Given the description of an element on the screen output the (x, y) to click on. 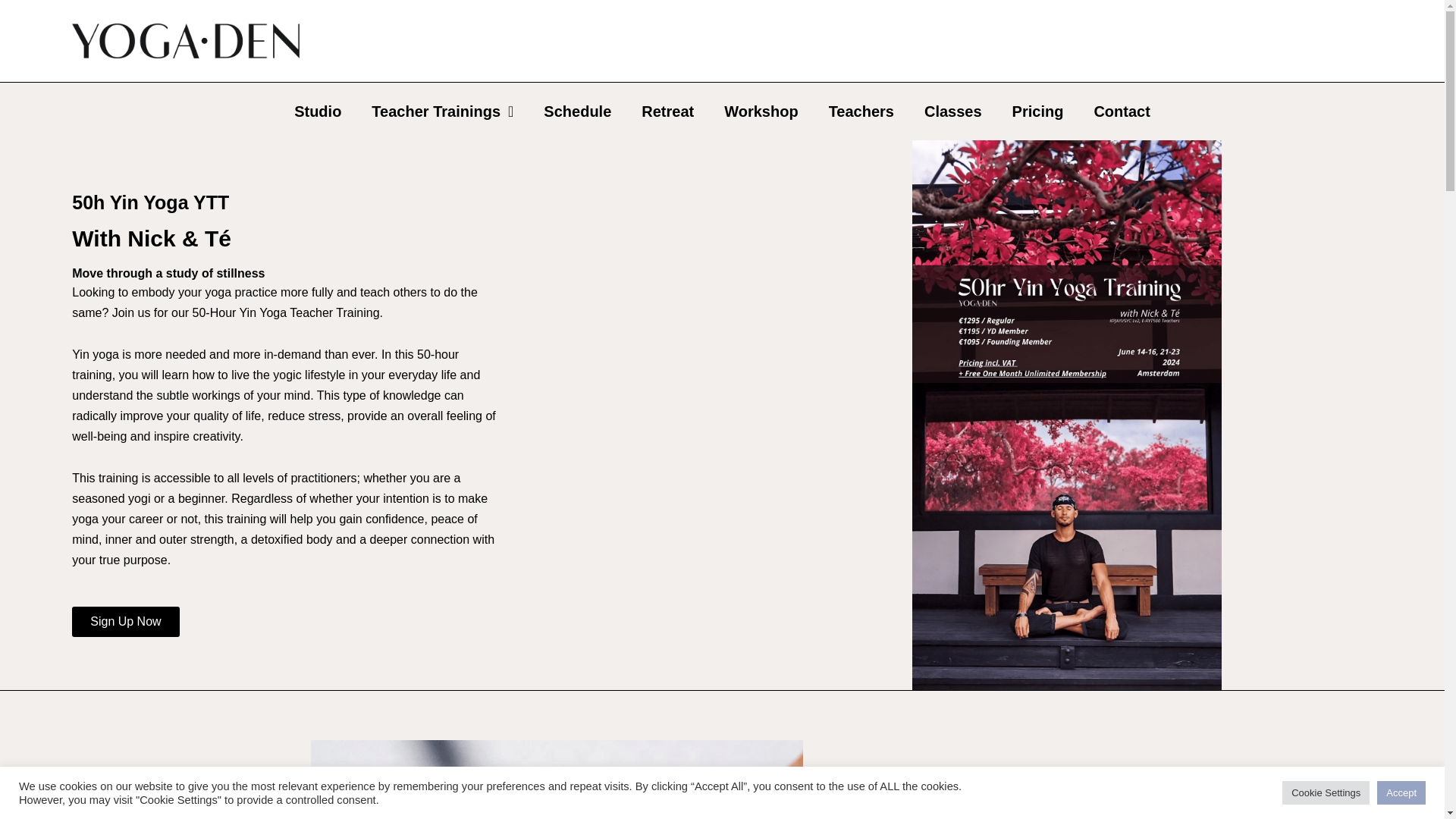
Classes (952, 111)
Contact (1121, 111)
Pricing (1037, 111)
Sign Up Now (125, 621)
Teachers (860, 111)
Schedule (577, 111)
Workshop (760, 111)
Studio (317, 111)
Retreat (667, 111)
Teacher Trainings (442, 111)
